Given the description of an element on the screen output the (x, y) to click on. 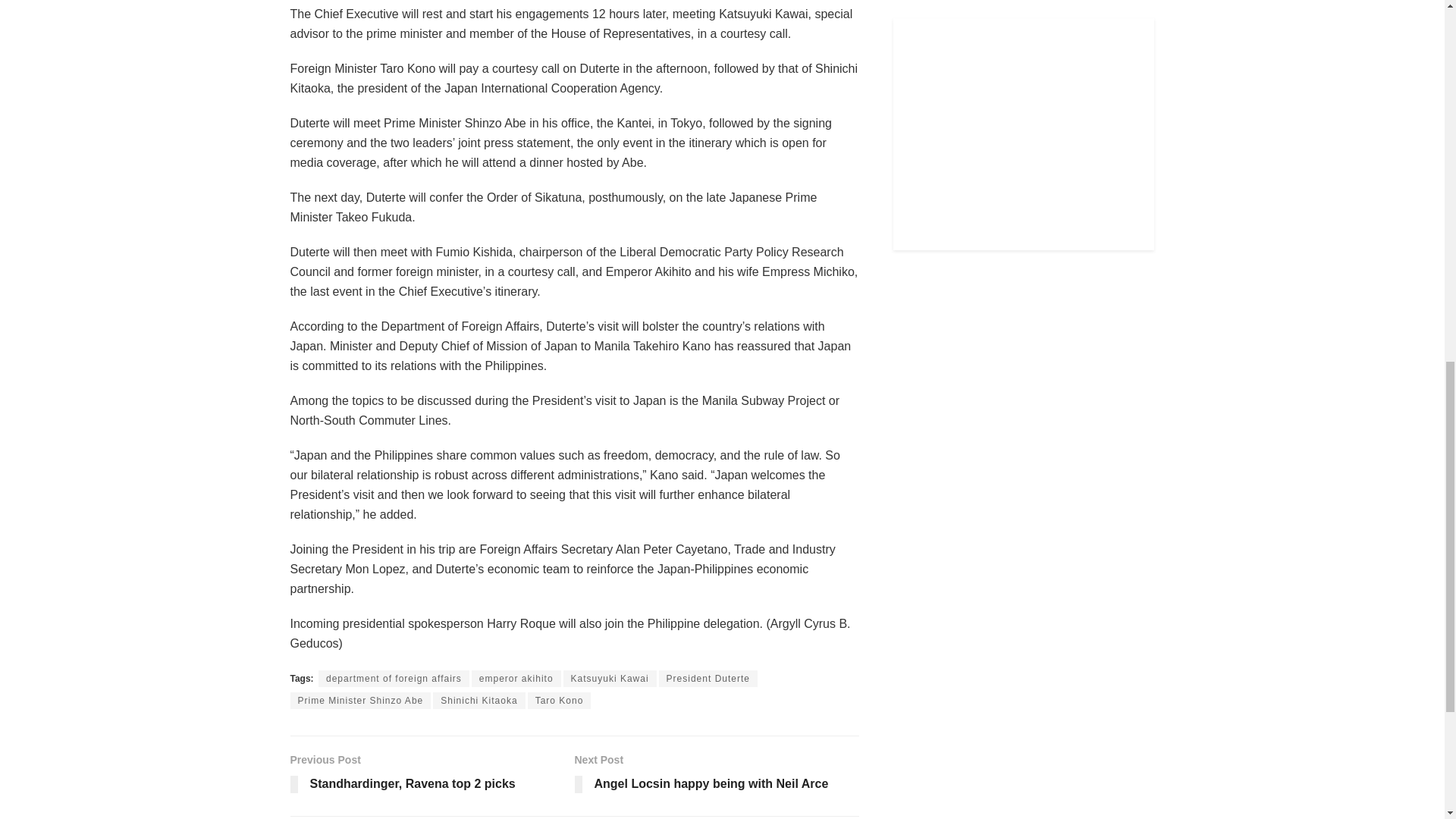
Prime Minister Shinzo Abe (717, 775)
President Duterte (359, 700)
department of foreign affairs (708, 678)
Shinichi Kitaoka (393, 678)
Taro Kono (478, 700)
Katsuyuki Kawai (559, 700)
emperor akihito (431, 775)
